Given the description of an element on the screen output the (x, y) to click on. 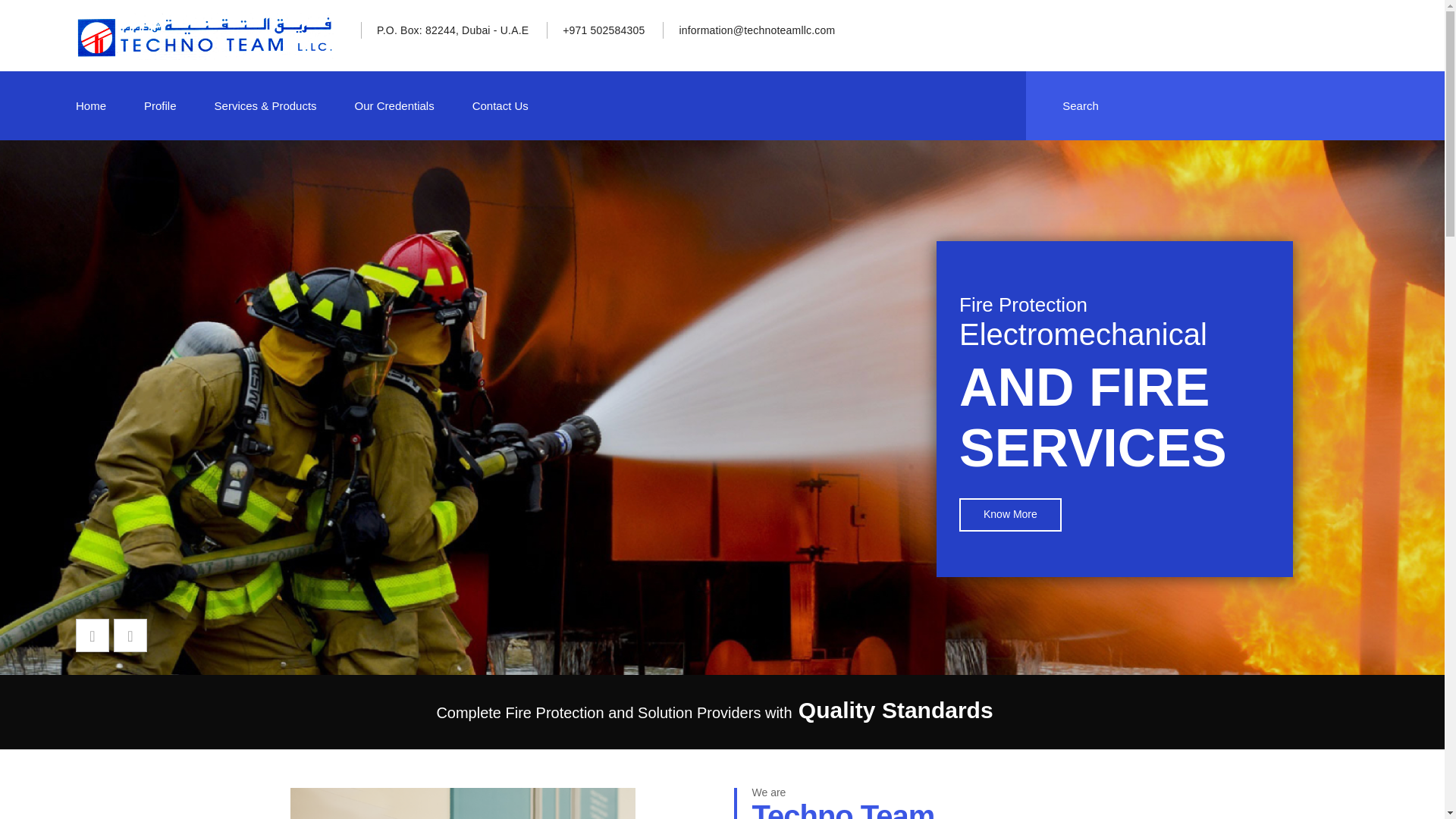
Contact Us (499, 105)
Home (90, 105)
Profile (160, 105)
Our Credentials (394, 105)
